Given the description of an element on the screen output the (x, y) to click on. 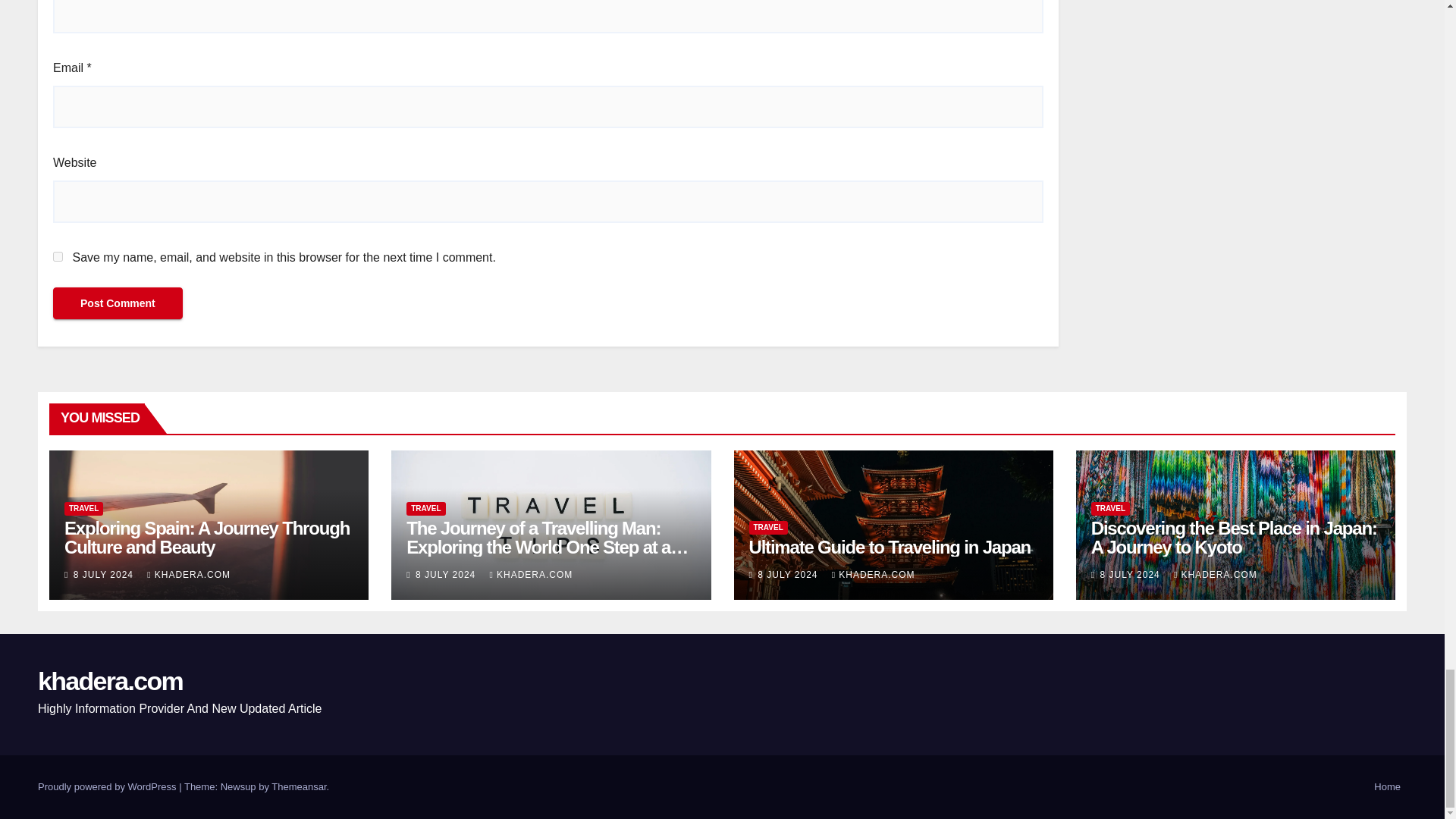
Post Comment (117, 303)
Permalink to: Ultimate Guide to Traveling in Japan (889, 547)
Post Comment (117, 303)
yes (57, 256)
Home (1387, 786)
